Given the description of an element on the screen output the (x, y) to click on. 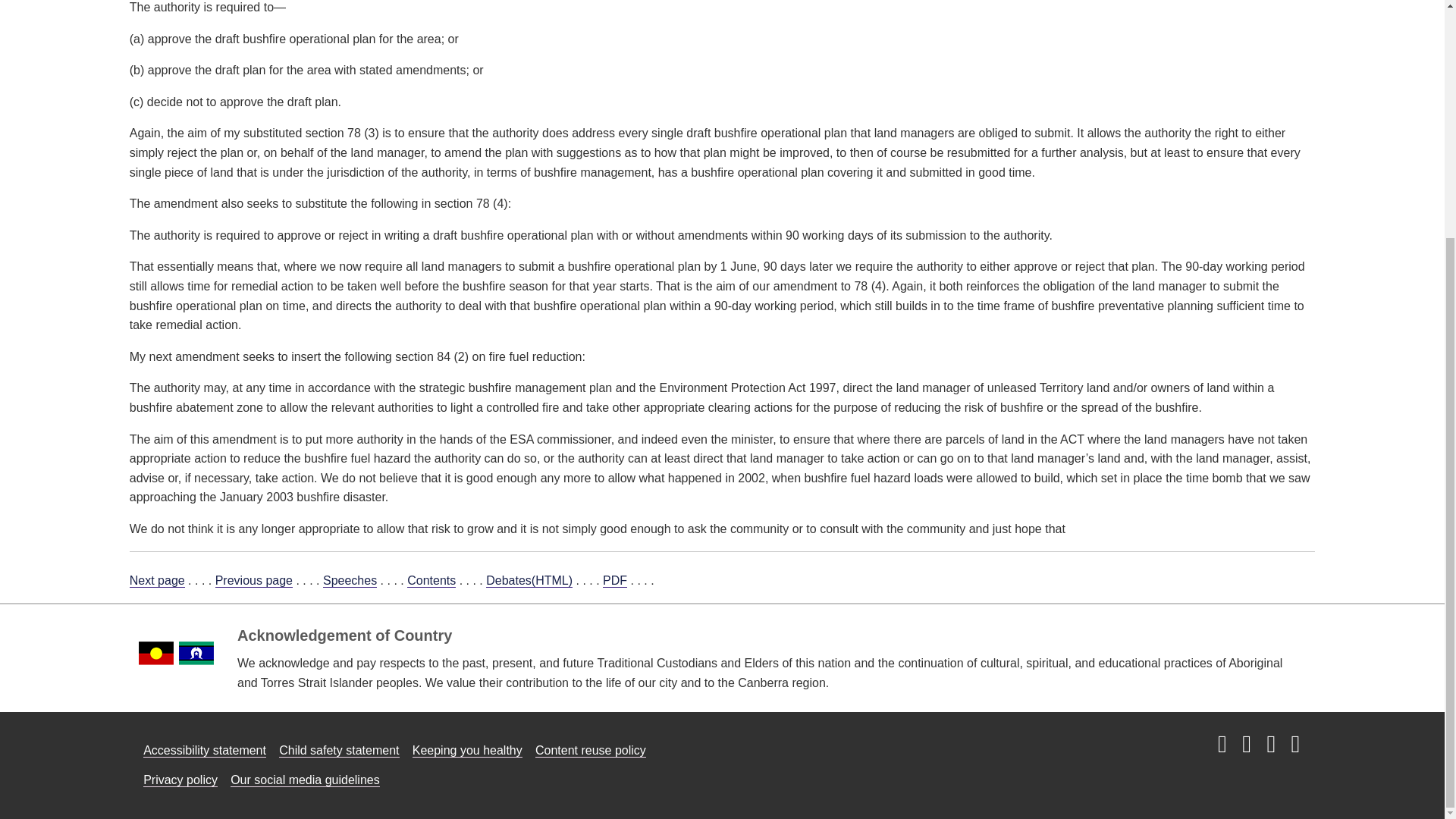
Accessibility statement (204, 750)
PDF (614, 581)
Speeches (350, 581)
Read our social media guidelines (305, 780)
Read our child safety committment (338, 750)
Next page (156, 581)
Read our content sharing and re-use policy (590, 750)
Read our privacy policy (179, 780)
Content reuse policy (590, 750)
Keeping you healthy (467, 750)
